Given the description of an element on the screen output the (x, y) to click on. 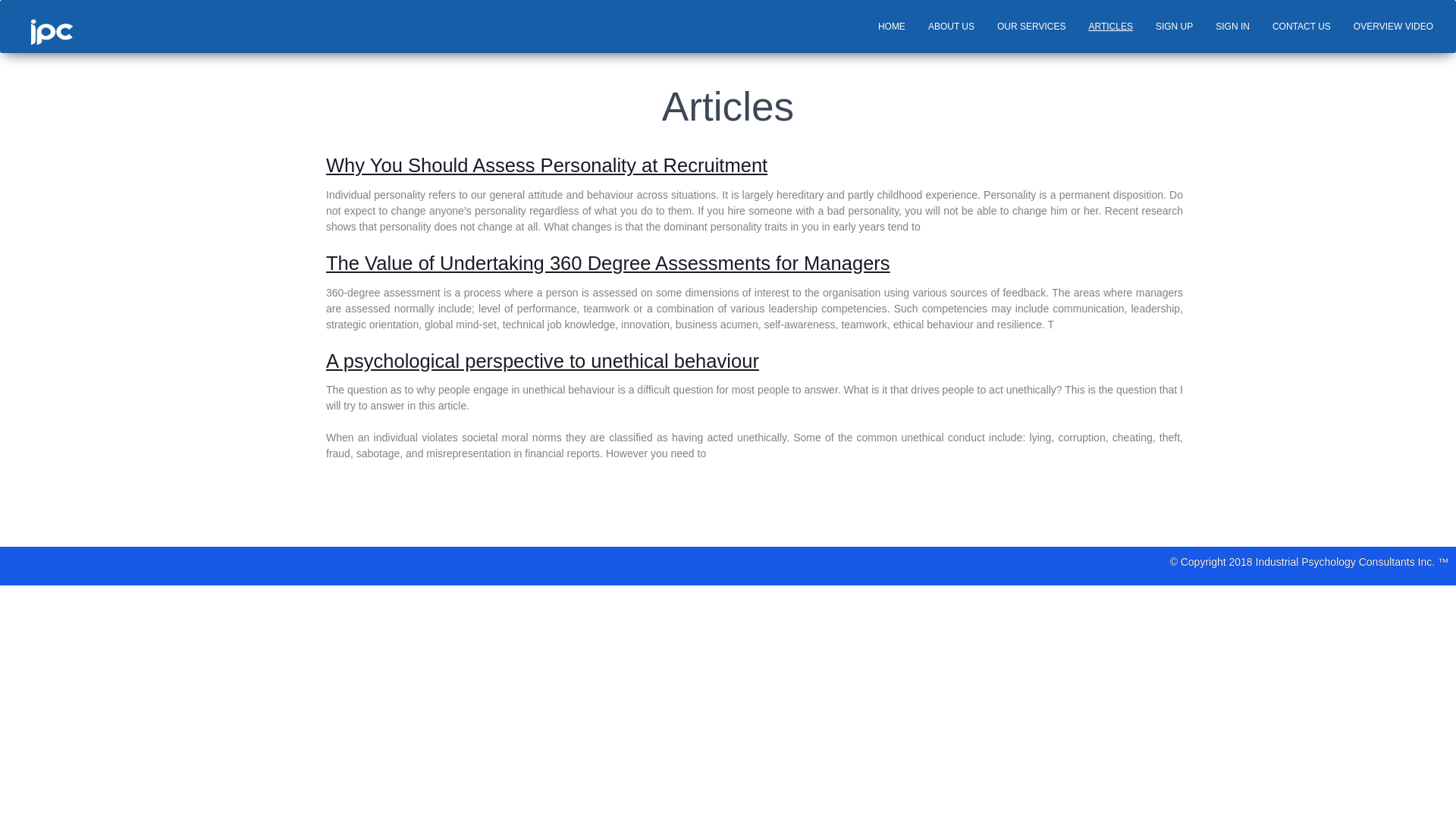
SIGN UP (1174, 26)
A psychological perspective to unethical behaviour (754, 361)
SIGN IN (1232, 26)
Why You Should Assess Personality at Recruitment (754, 165)
OVERVIEW VIDEO (1393, 26)
ABOUT US (951, 26)
CONTACT US (1301, 26)
ARTICLES (1109, 26)
The Value of Undertaking 360 Degree Assessments for Managers (754, 263)
OUR SERVICES (1031, 26)
HOME (891, 26)
